Given the description of an element on the screen output the (x, y) to click on. 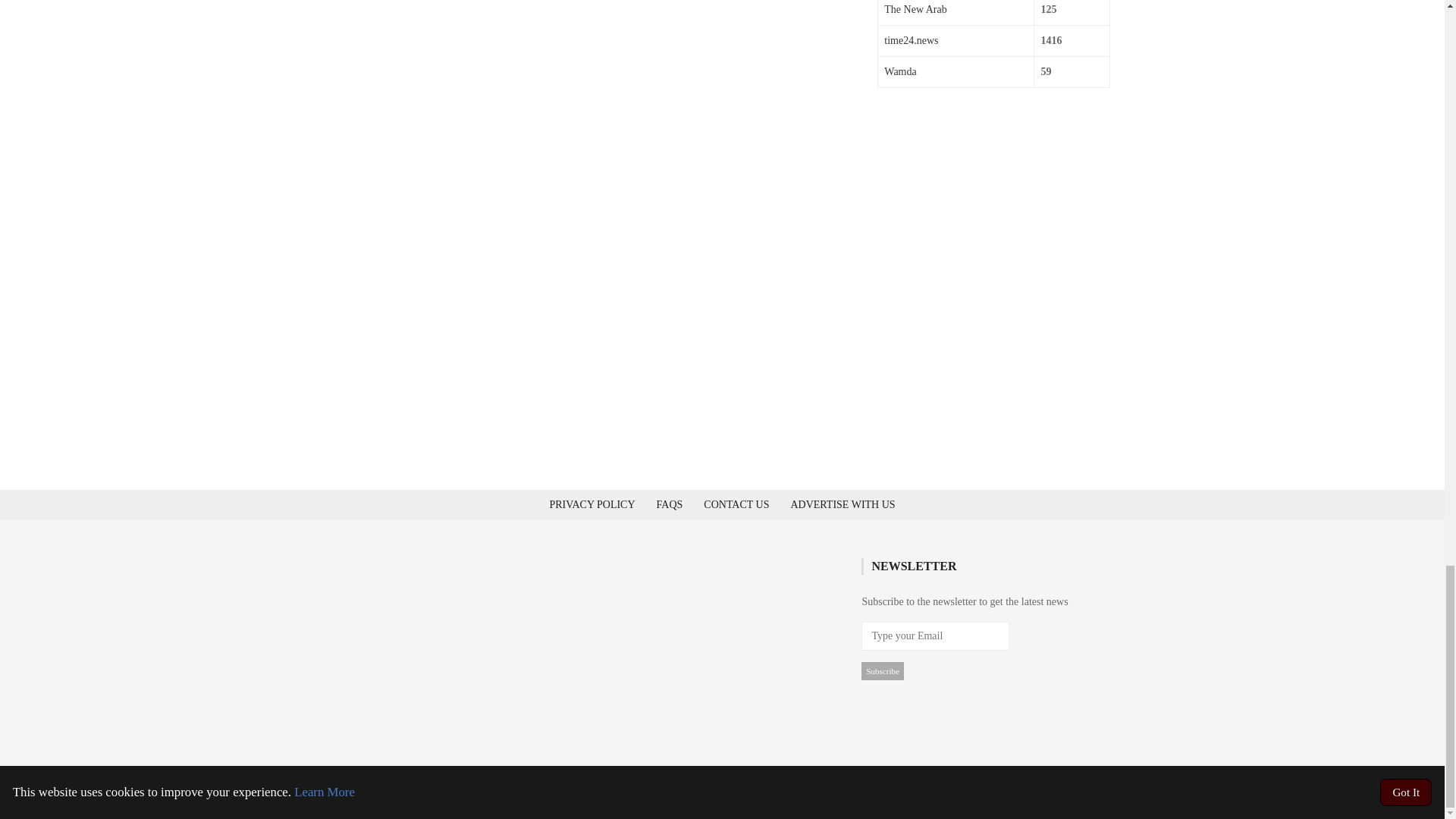
Subscribe (881, 670)
